Given the description of an element on the screen output the (x, y) to click on. 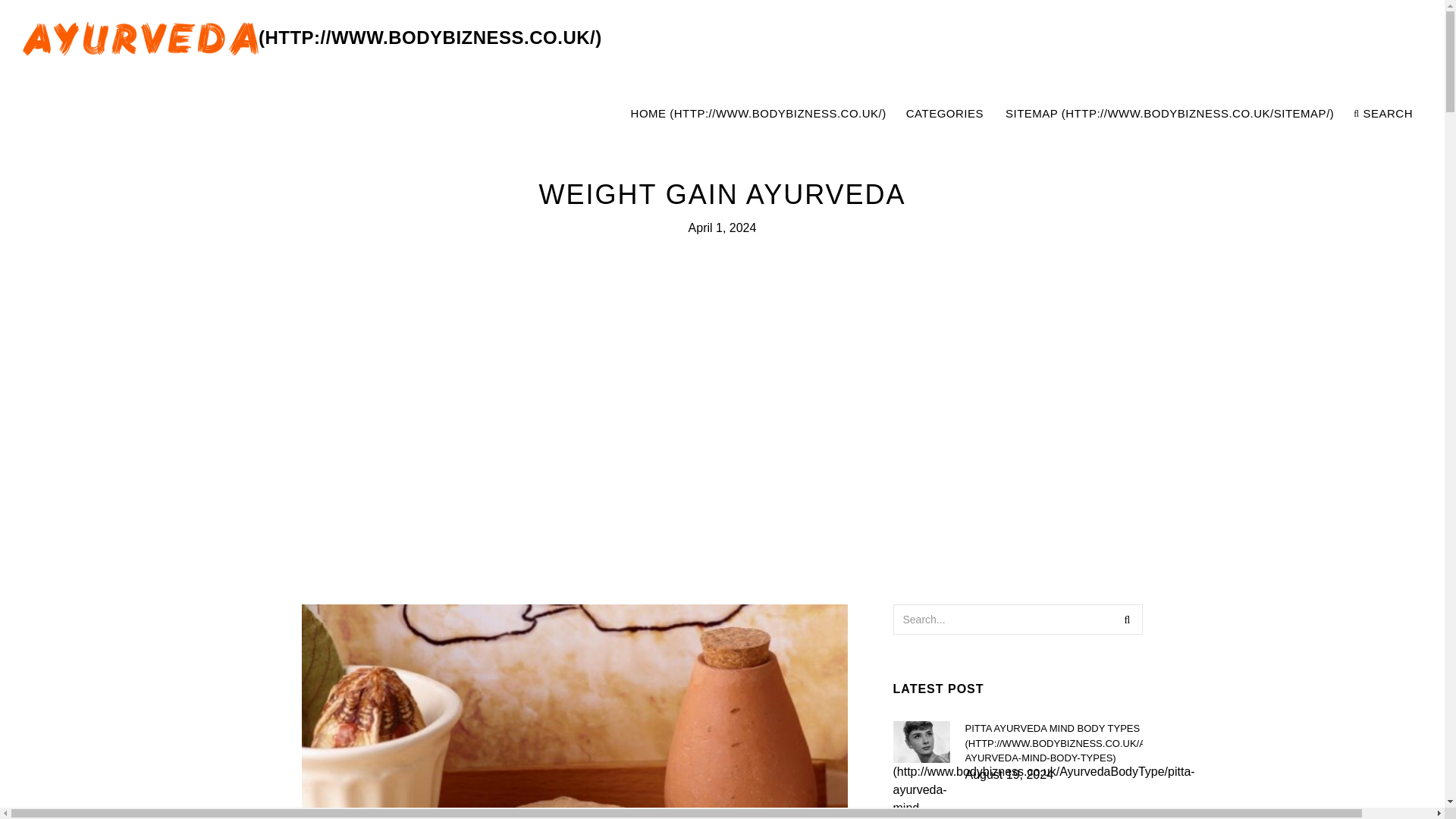
SEARCH (1382, 113)
SITEMAP (1168, 113)
Search (1126, 619)
HOME (758, 113)
Ayurveda (312, 38)
Advertisement (1021, 113)
